Given the description of an element on the screen output the (x, y) to click on. 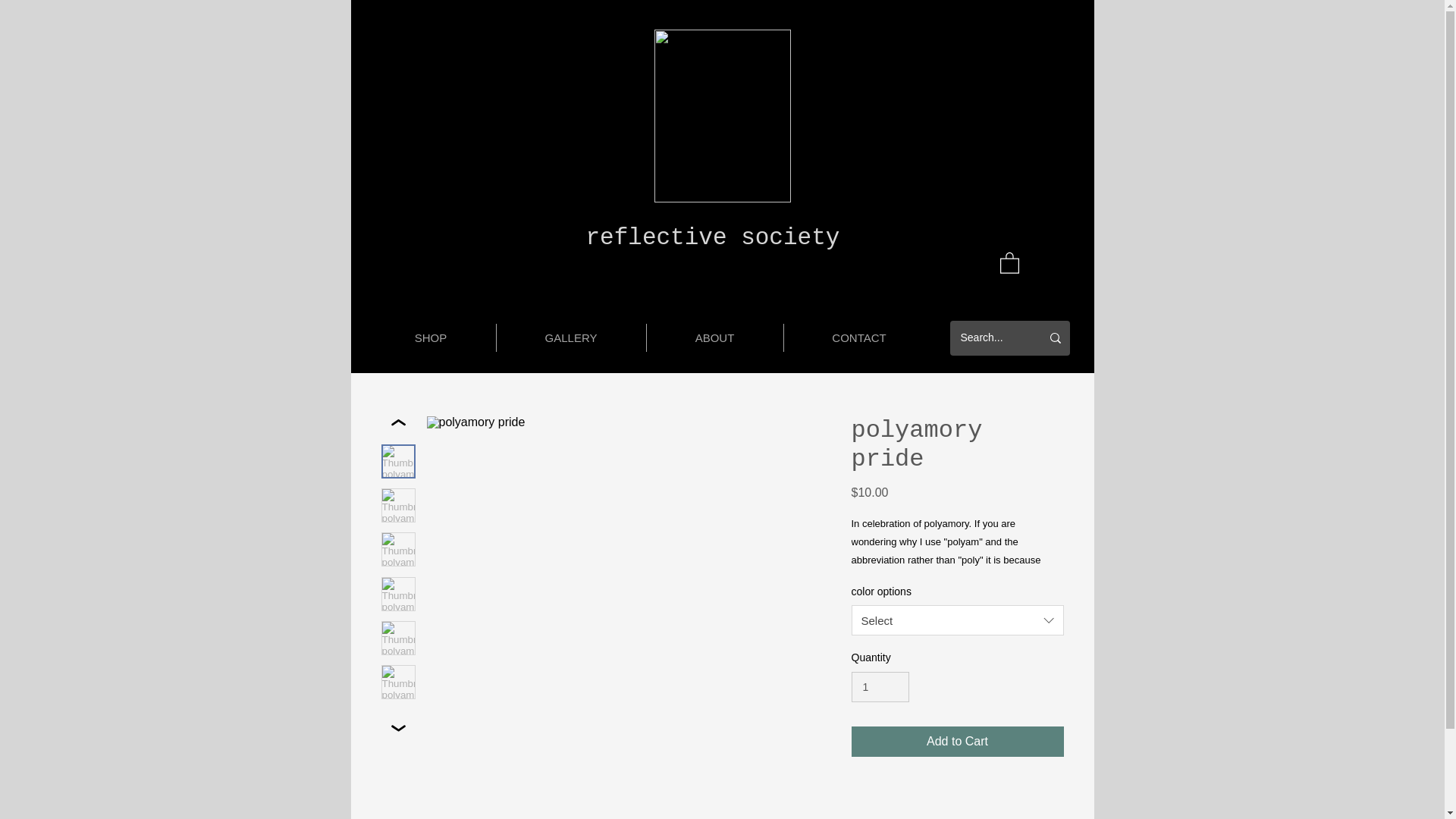
Select (956, 620)
Pin to Pinterest (451, 751)
1 (879, 686)
SHOP (430, 337)
CONTACT (859, 337)
GALLERY (570, 337)
Add to Cart (956, 741)
ABOUT (714, 337)
